Given the description of an element on the screen output the (x, y) to click on. 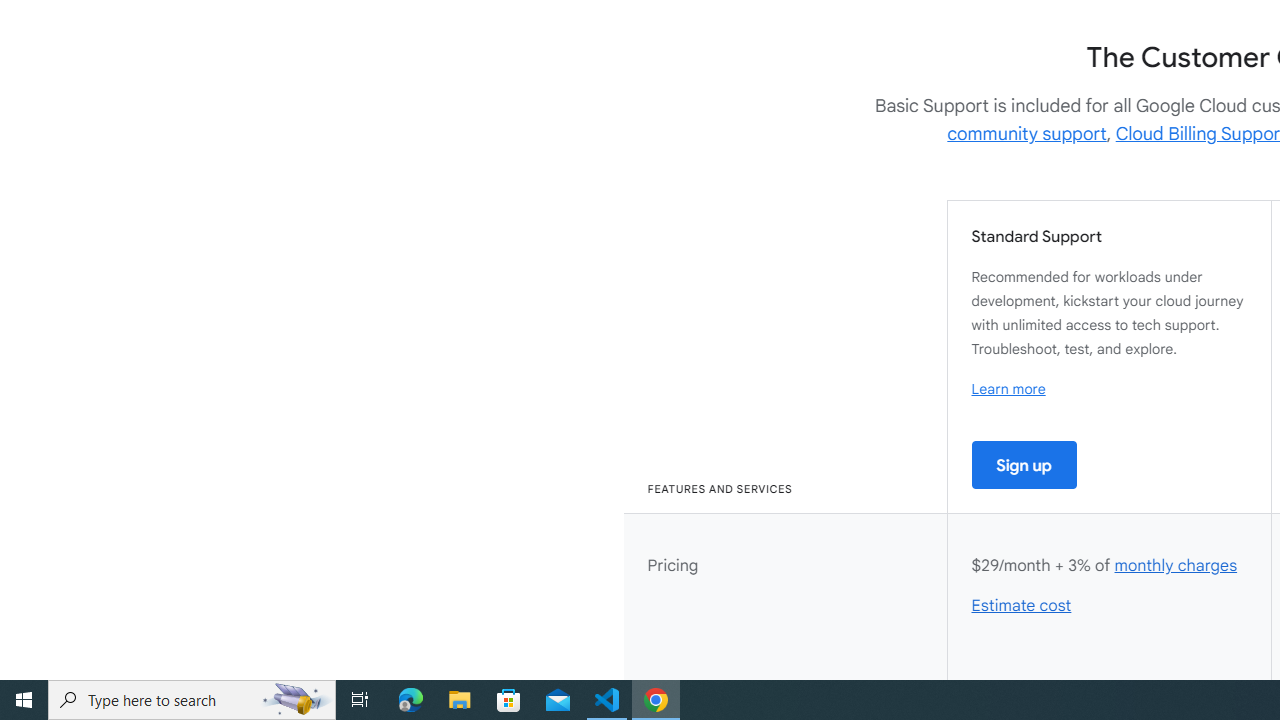
community support (1027, 133)
Learn more (1008, 389)
Estimate cost (1021, 606)
monthly charges (1175, 565)
Sign up (1023, 464)
